Given the description of an element on the screen output the (x, y) to click on. 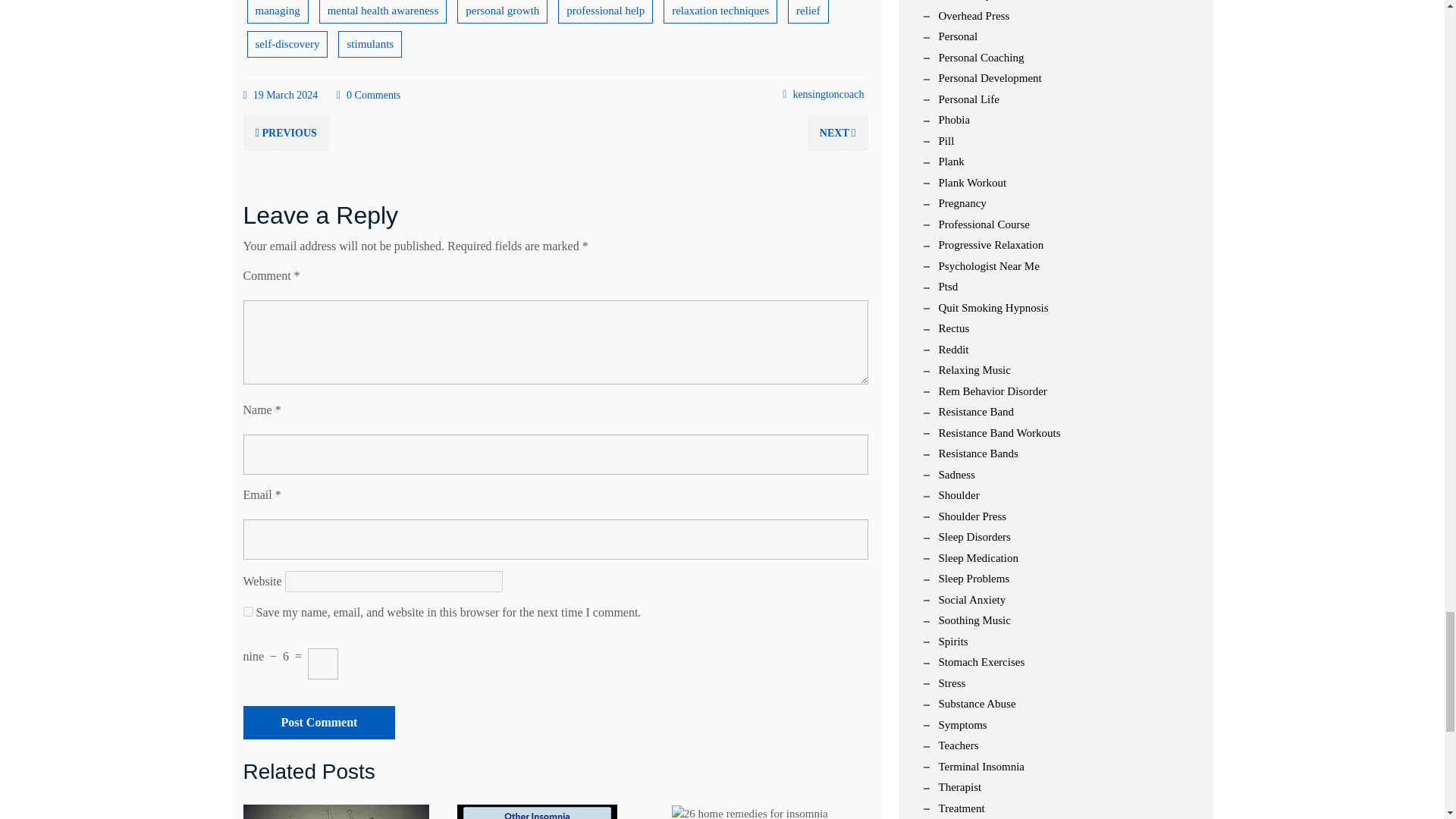
Post Comment (318, 722)
yes (247, 611)
mental health awareness (382, 12)
managing (277, 12)
